Given the description of an element on the screen output the (x, y) to click on. 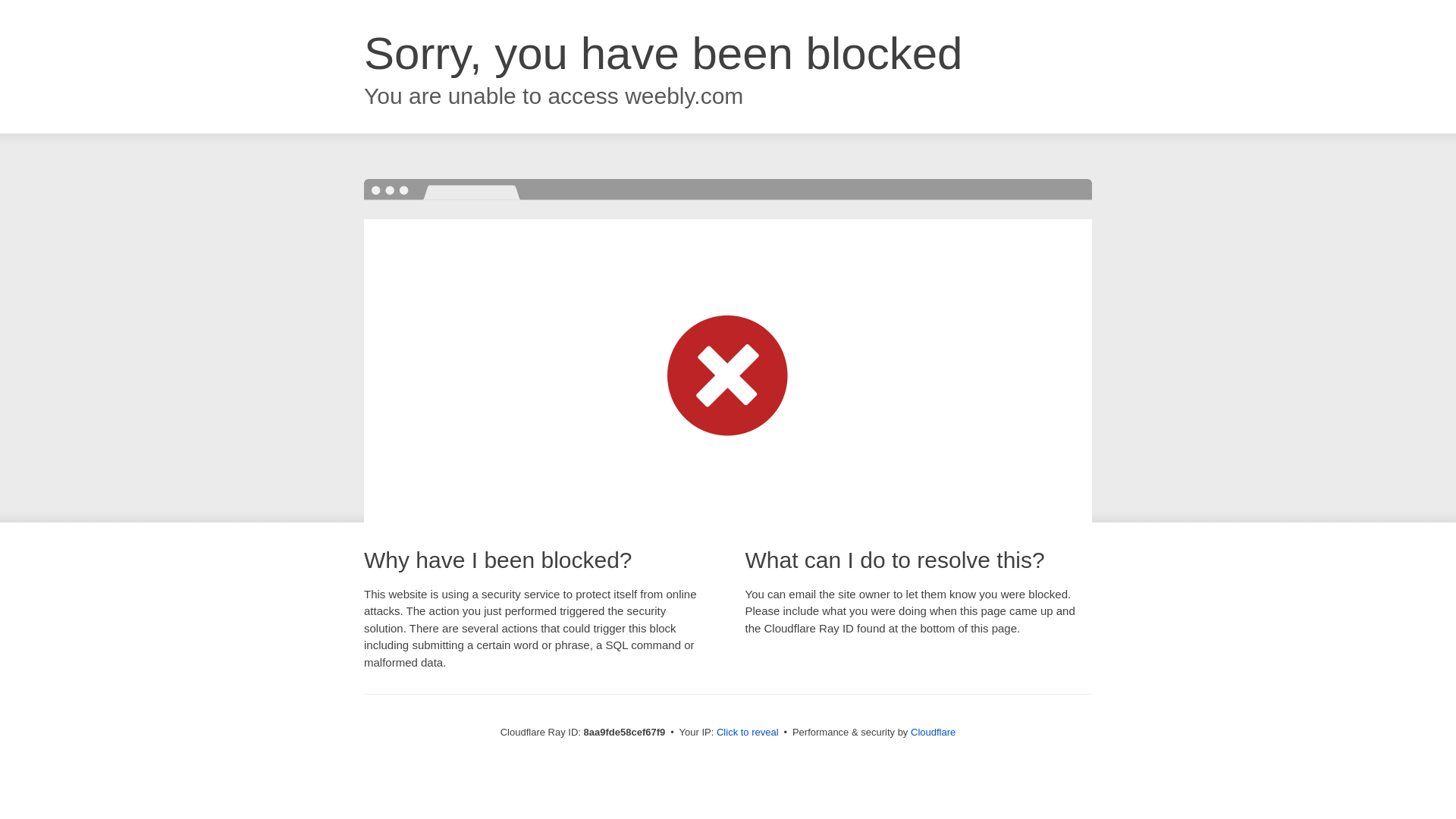
Cloudflare (933, 731)
Click to reveal (747, 732)
